Given the description of an element on the screen output the (x, y) to click on. 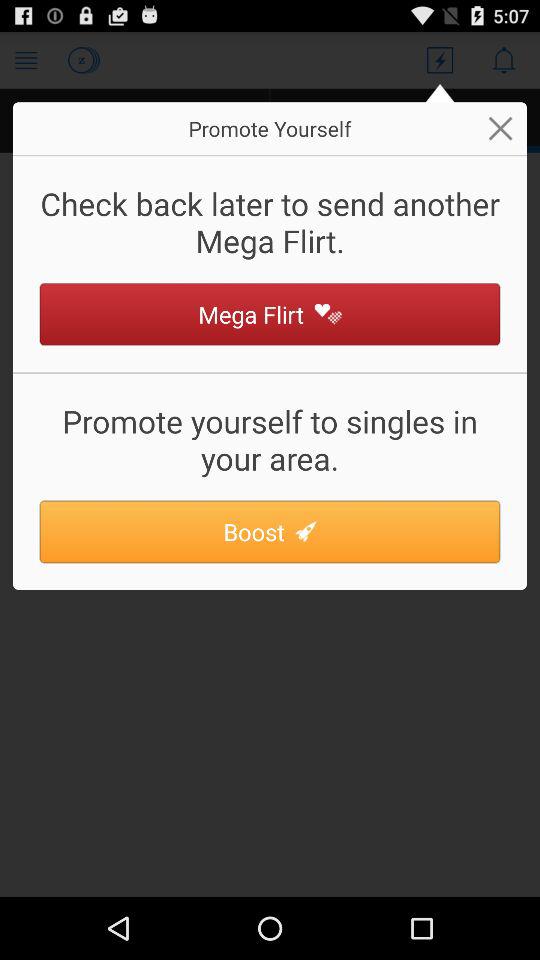
close popup (500, 128)
